Given the description of an element on the screen output the (x, y) to click on. 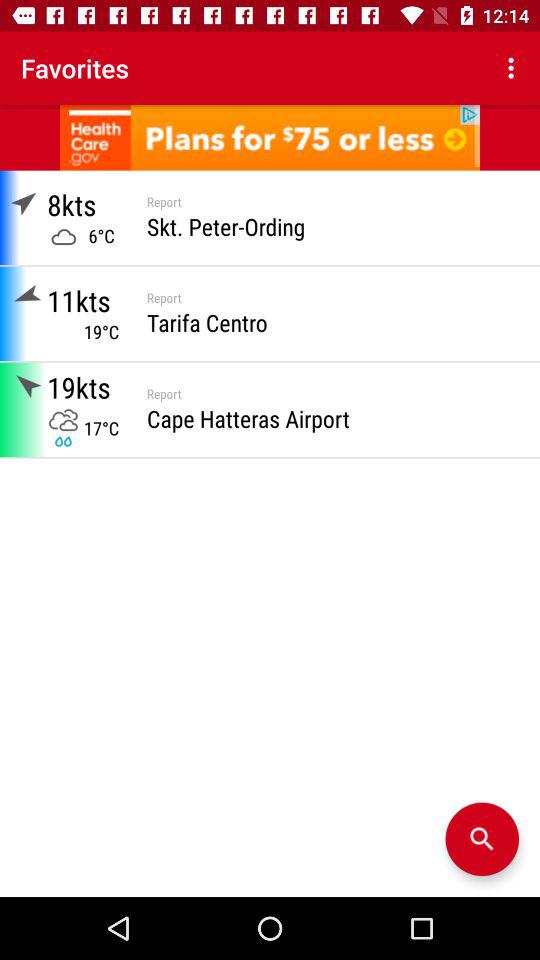
go to advertisement (270, 137)
